Given the description of an element on the screen output the (x, y) to click on. 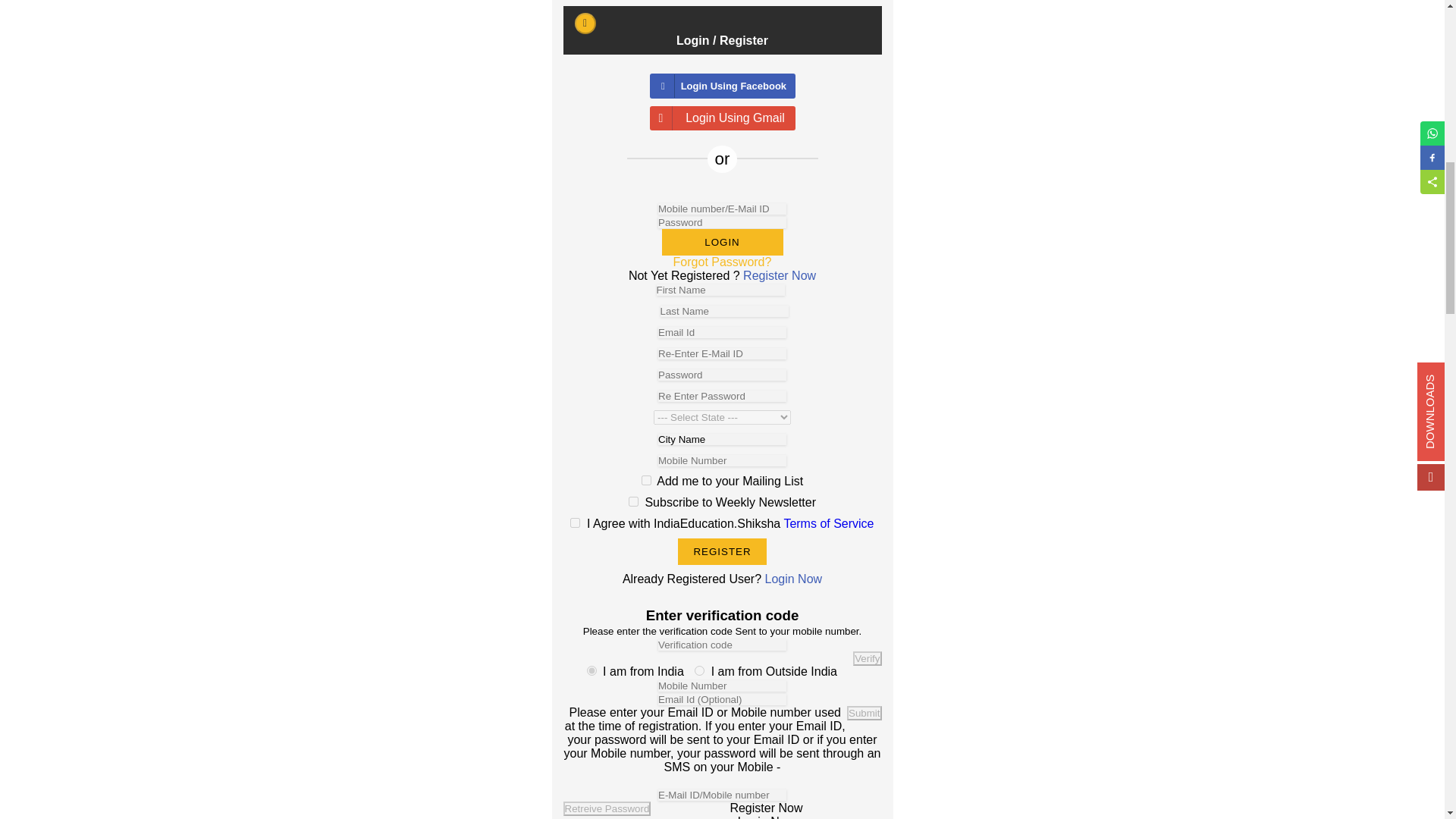
Click to Login (722, 242)
on (633, 501)
0 (591, 670)
1 (699, 670)
City Name (722, 439)
on (574, 522)
Click to Register (721, 551)
on (646, 480)
